Given the description of an element on the screen output the (x, y) to click on. 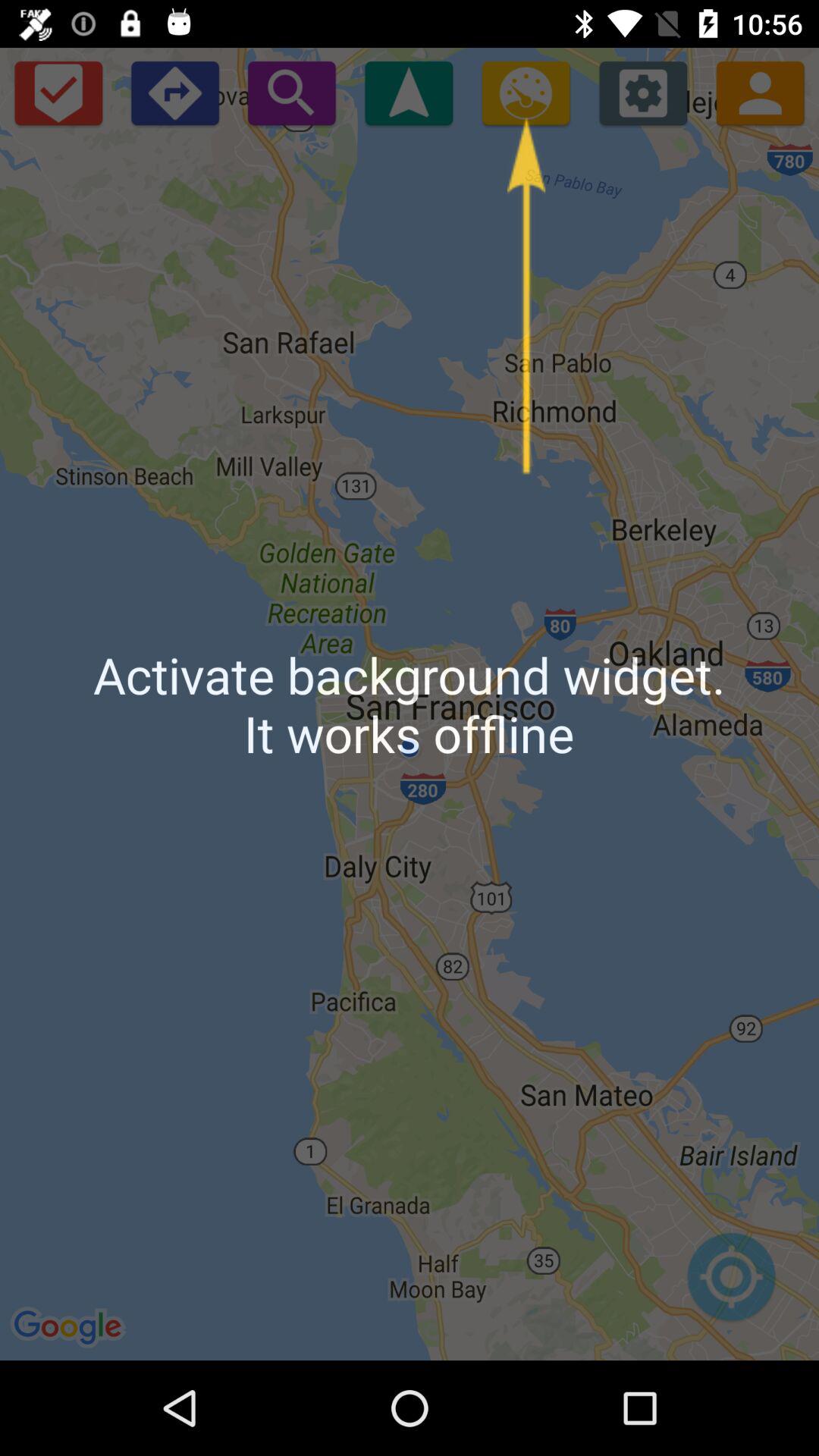
background widget (408, 92)
